Given the description of an element on the screen output the (x, y) to click on. 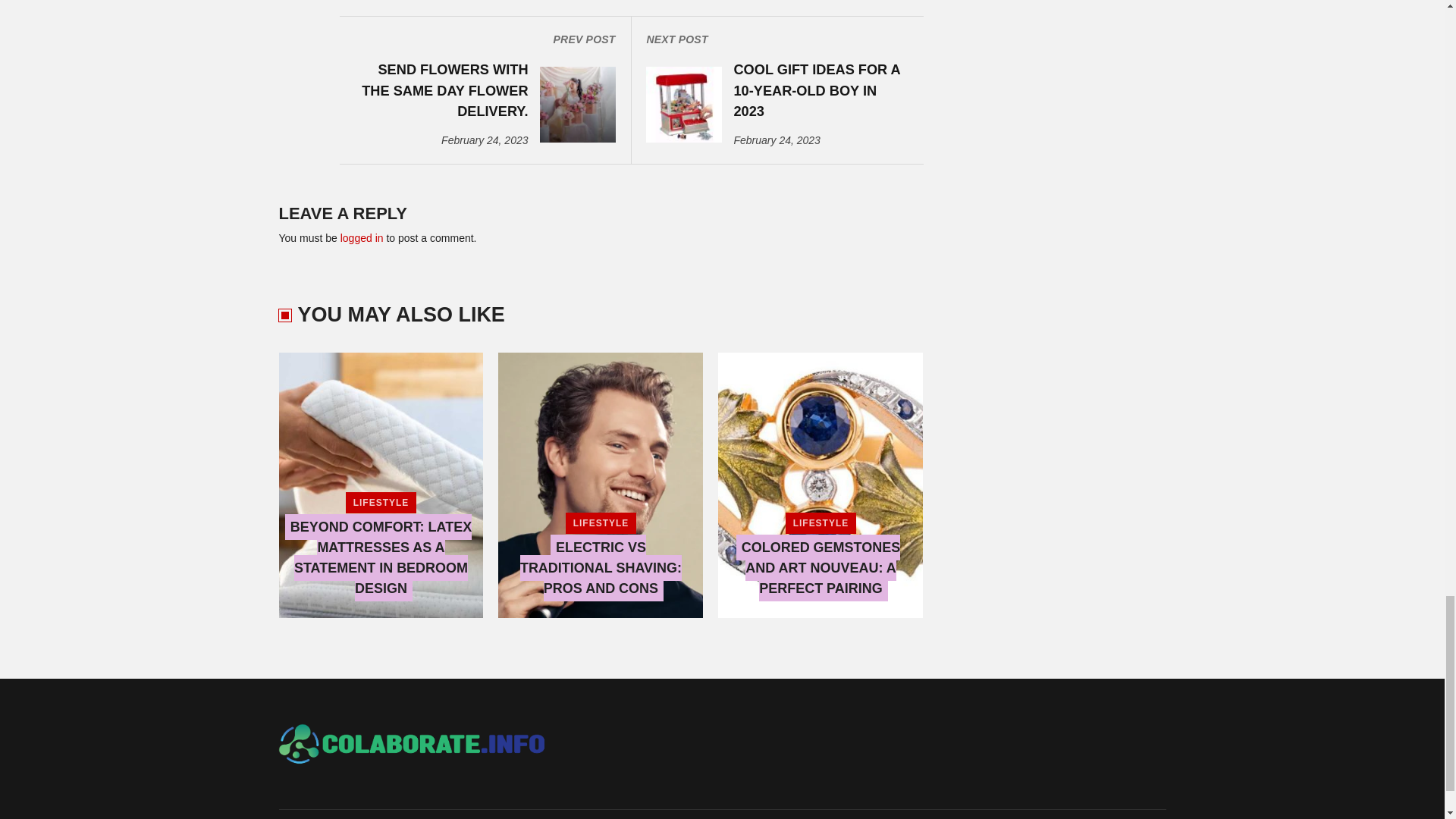
SEND FLOWERS WITH THE SAME DAY FLOWER DELIVERY. (440, 90)
1:02 pm (484, 140)
PREV POST (483, 39)
NEXT POST (776, 39)
